Given the description of an element on the screen output the (x, y) to click on. 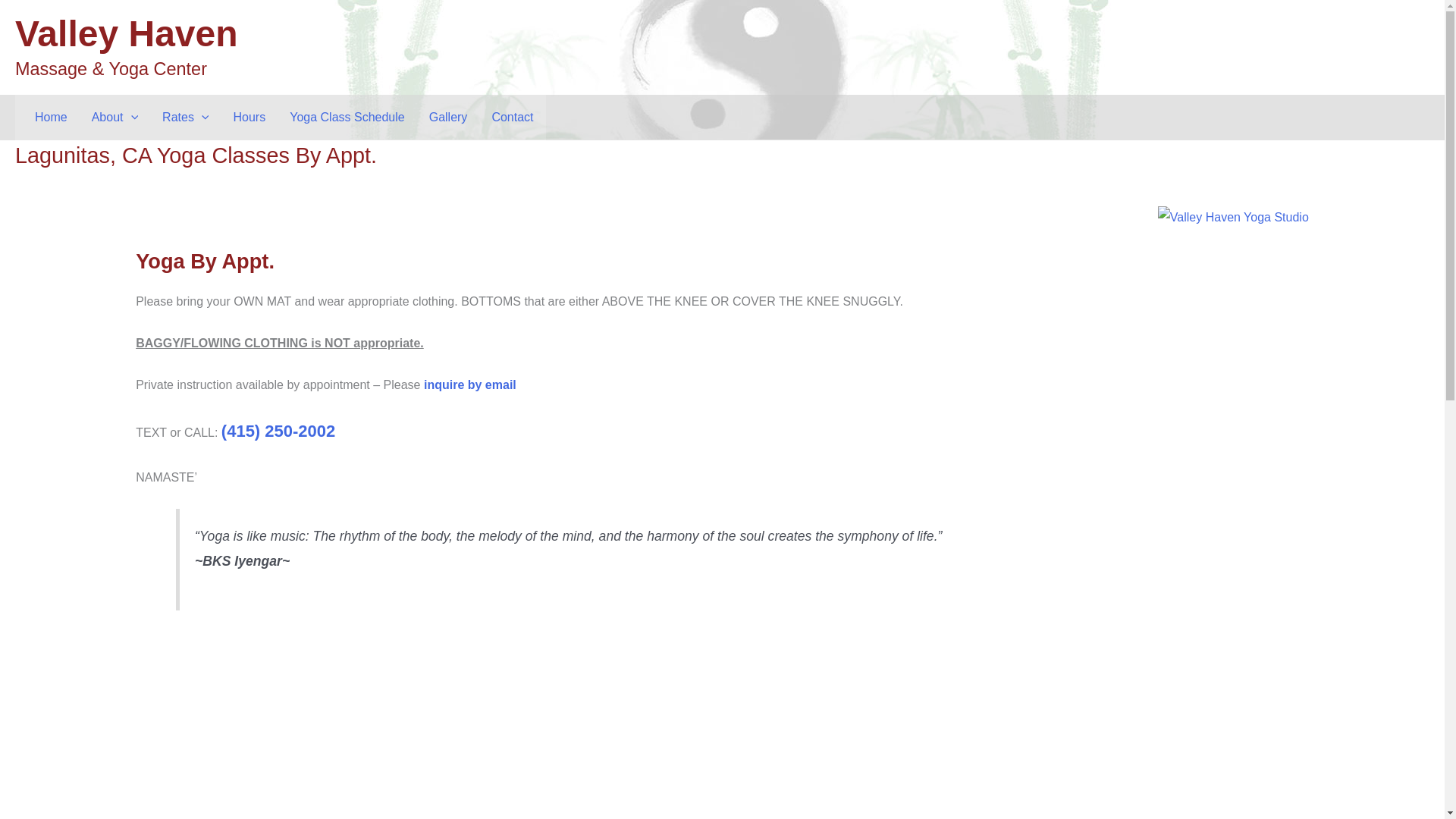
inquire by email   (472, 384)
Hours (249, 117)
Gallery (448, 117)
Valley Haven (126, 33)
Contact (511, 117)
About (114, 117)
Yoga Class Schedule (347, 117)
Valley Haven Yoga Studio (1232, 215)
Rates (185, 117)
Home (51, 117)
